Given the description of an element on the screen output the (x, y) to click on. 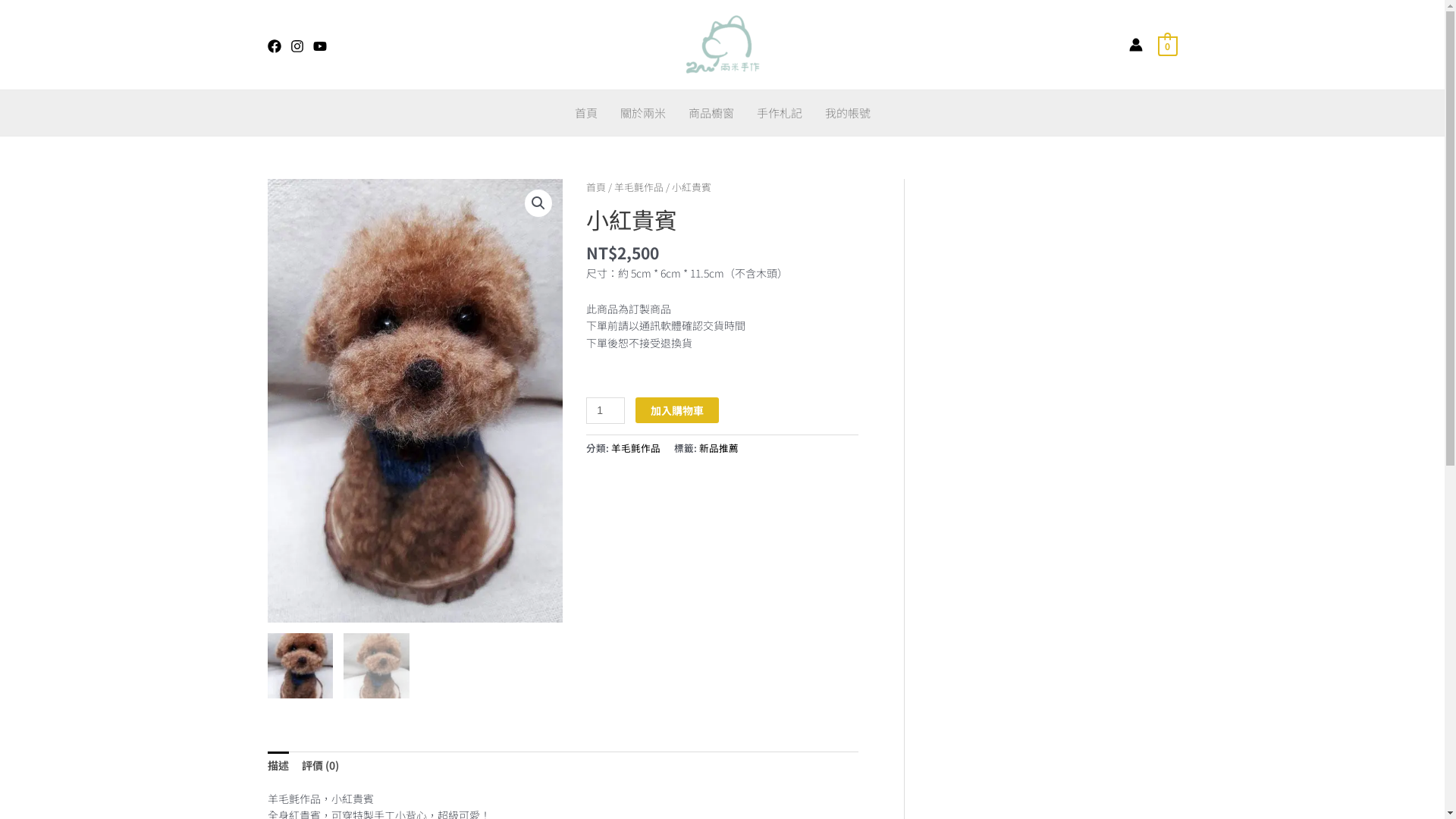
37932 Element type: hover (414, 400)
0 Element type: text (1166, 44)
